Given the description of an element on the screen output the (x, y) to click on. 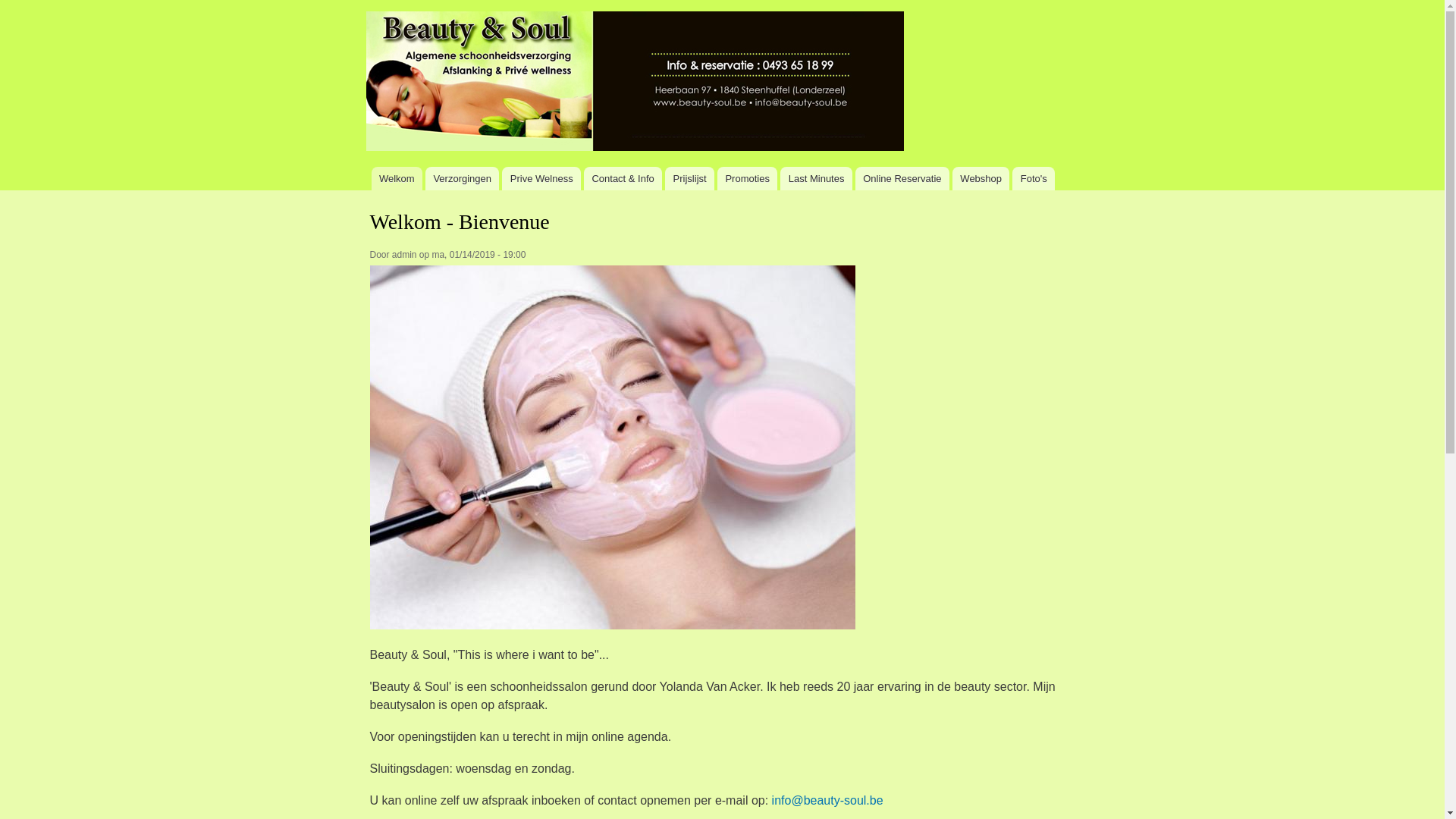
Contact & Info Element type: text (622, 178)
Prive Welness Element type: text (541, 178)
Foto's Element type: text (1033, 178)
Prijslijst Element type: text (689, 178)
Welkom Element type: text (397, 178)
Online Reservatie Element type: text (902, 178)
Home Element type: hover (635, 83)
Last Minutes Element type: text (815, 178)
Promoties Element type: text (747, 178)
info@beauty-soul.be Element type: text (827, 799)
Verzorgingen Element type: text (461, 178)
Overslaan en naar de inhoud gaan Element type: text (696, 1)
Webshop Element type: text (980, 178)
